Given the description of an element on the screen output the (x, y) to click on. 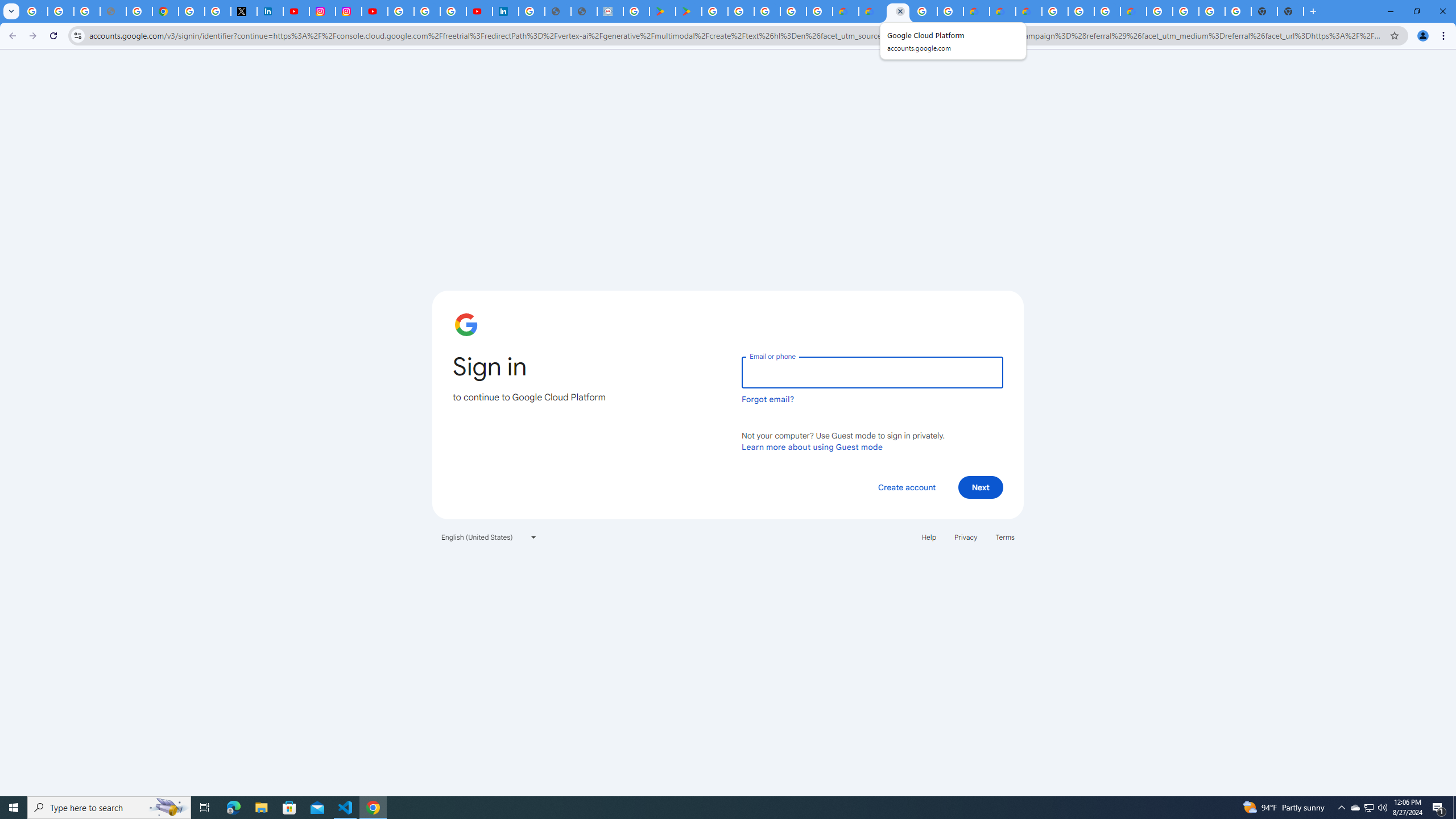
Google Cloud Platform (1185, 11)
Google Cloud Platform (1159, 11)
Learn more about using Guest mode (812, 446)
Google Cloud Platform (897, 11)
